Given the description of an element on the screen output the (x, y) to click on. 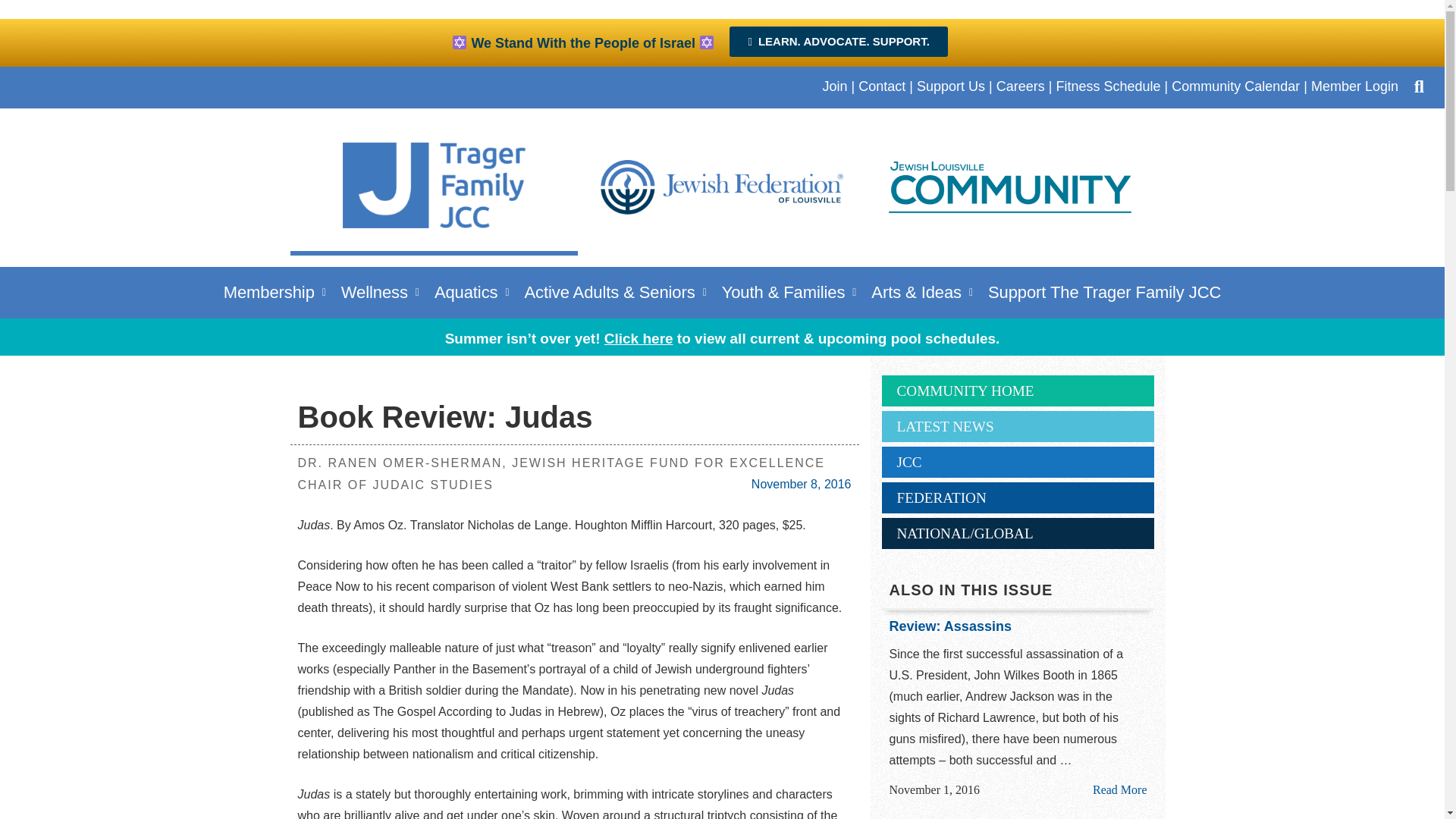
Review: Assassins (1017, 627)
Member Login (1354, 86)
LEARN. ADVOCATE. SUPPORT. (838, 41)
Membership (274, 292)
Join (834, 86)
Review: Assassins (1120, 789)
Community Calendar (1236, 86)
Fitness Schedule (1107, 86)
Contact (882, 86)
12:11 pm (801, 484)
